Given the description of an element on the screen output the (x, y) to click on. 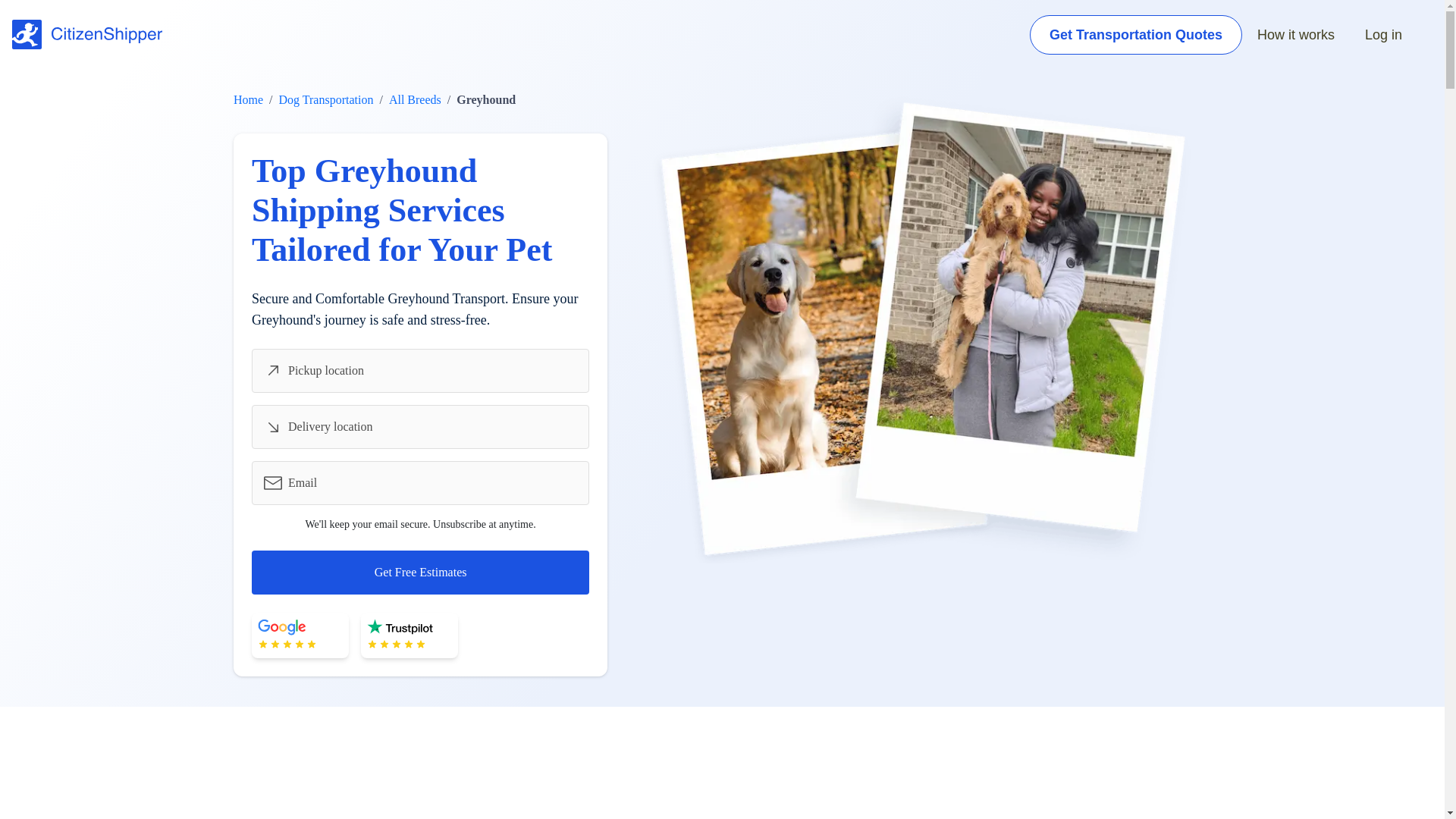
Log in (1383, 34)
Get Free Estimates (420, 572)
How it works (1296, 34)
Dog Transportation (326, 99)
Home (247, 99)
Get Transportation Quotes (1135, 34)
All Breeds (414, 99)
